Given the description of an element on the screen output the (x, y) to click on. 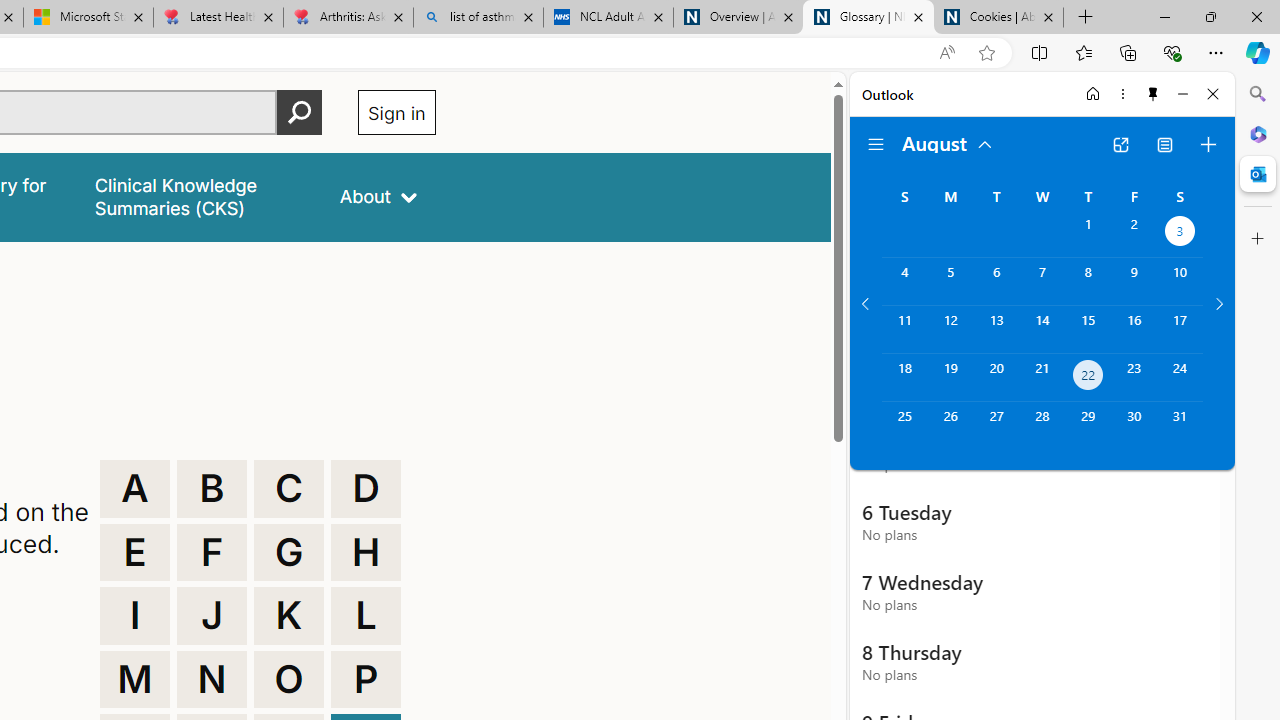
L (365, 615)
M (134, 679)
Saturday, August 3, 2024. Date selected.  (1180, 233)
Wednesday, August 21, 2024.  (1042, 377)
Monday, August 19, 2024.  (950, 377)
N (212, 679)
Thursday, August 8, 2024.  (1088, 281)
Wednesday, August 14, 2024.  (1042, 329)
Sunday, August 18, 2024.  (904, 377)
H (365, 551)
August (948, 141)
C (289, 488)
Friday, August 9, 2024.  (1134, 281)
